Given the description of an element on the screen output the (x, y) to click on. 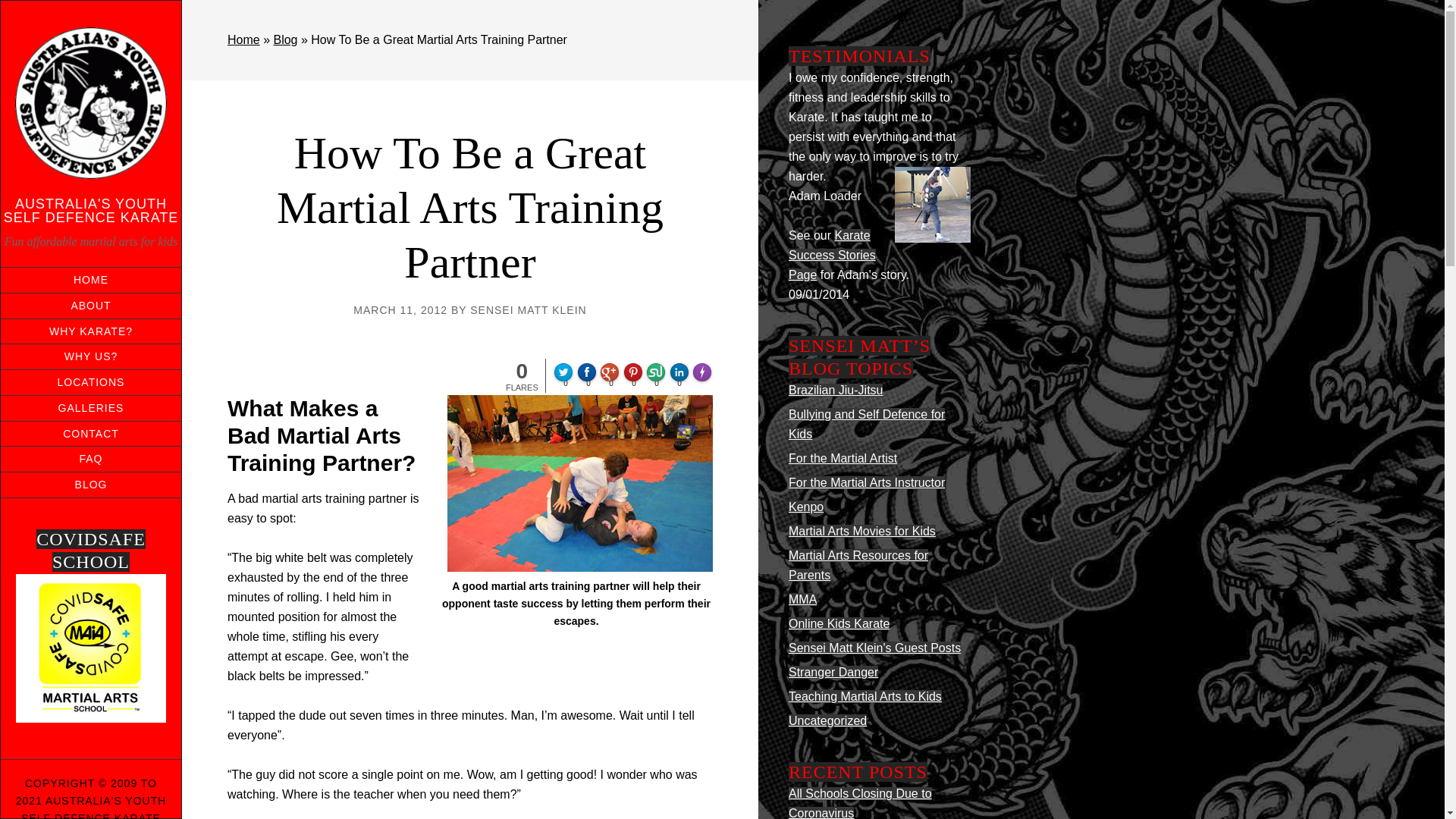
CONTACT (90, 433)
training-partner (579, 482)
WHY US? (90, 356)
SENSEI MATT KLEIN (528, 309)
active kids (90, 648)
ABOUT (90, 305)
AUSTRALIA'S YOUTH SELF DEFENCE KARATE (91, 210)
WHY KARATE? (90, 330)
HOME (90, 279)
LOCATIONS (90, 382)
FAQ (90, 458)
Karate Success Stories Page (832, 255)
GALLERIES (90, 407)
Blog (285, 39)
BLOG (90, 484)
